Given the description of an element on the screen output the (x, y) to click on. 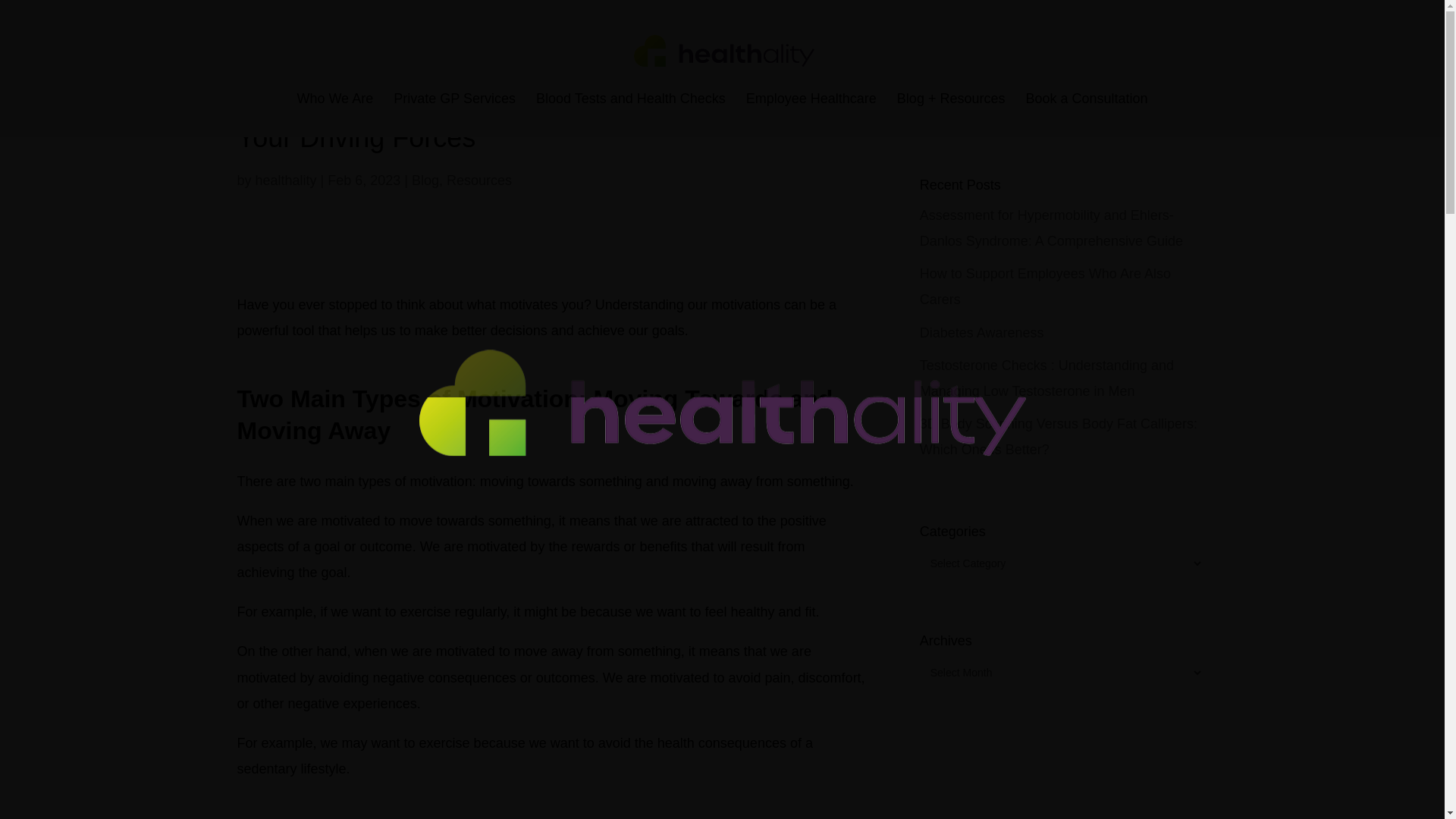
Diabetes Awareness (981, 332)
Posts by healthality (286, 180)
Blog (425, 180)
Who We Are (334, 105)
healthality (286, 180)
Employee Healthcare (810, 105)
Private GP Services (454, 105)
Book a Consultation (1086, 105)
Search (1180, 108)
How to Support Employees Who Are Also Carers (1045, 286)
Search (1180, 108)
Resources (479, 180)
